Given the description of an element on the screen output the (x, y) to click on. 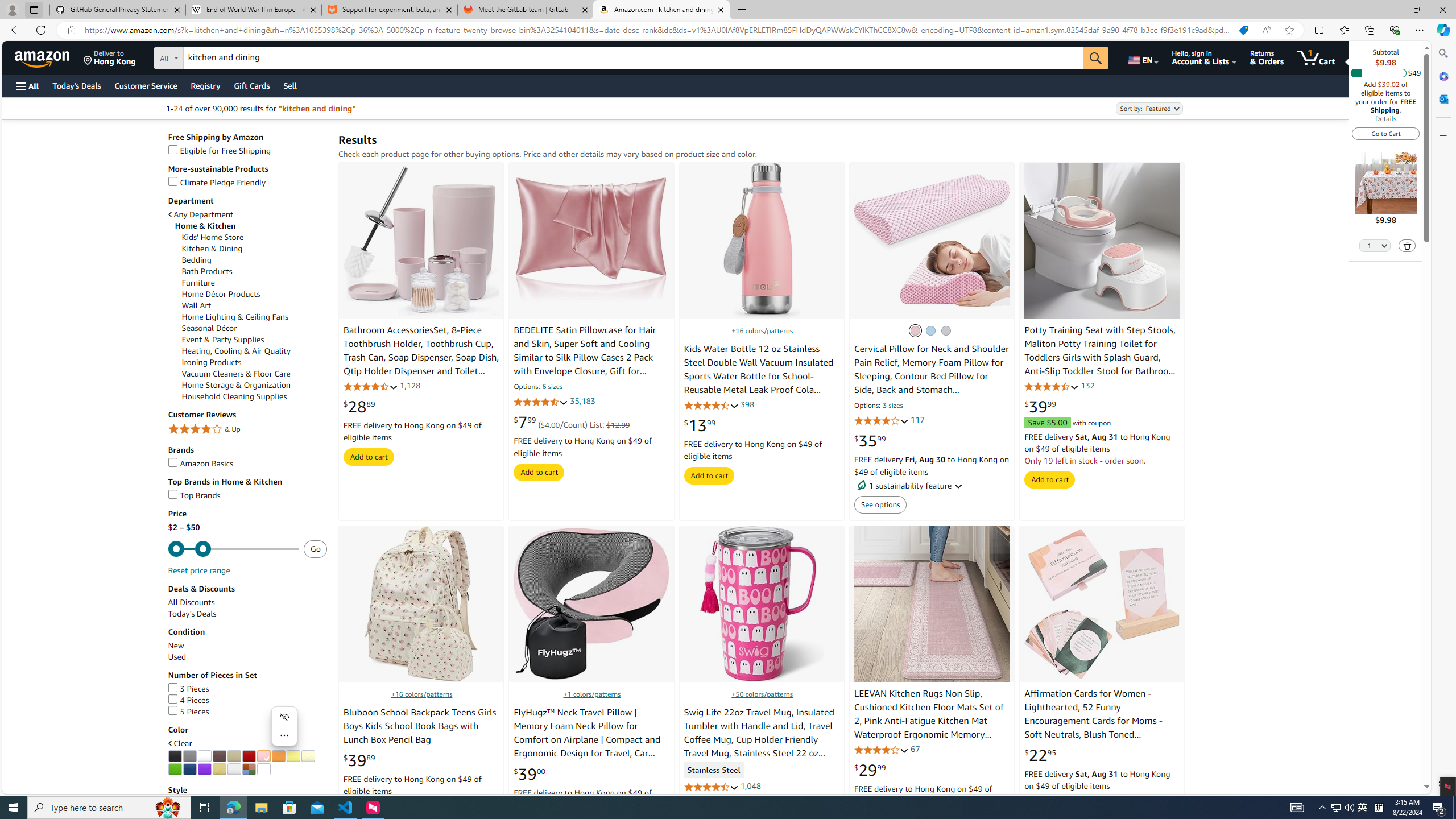
Amazon.com : kitchen and dining (660, 9)
Red (248, 756)
Kitchen & Dining (254, 248)
1 item in cart (1315, 57)
More actions (284, 735)
Hide menu (284, 717)
Grey (945, 330)
Delete (1407, 245)
Ironing Products (211, 362)
